Given the description of an element on the screen output the (x, y) to click on. 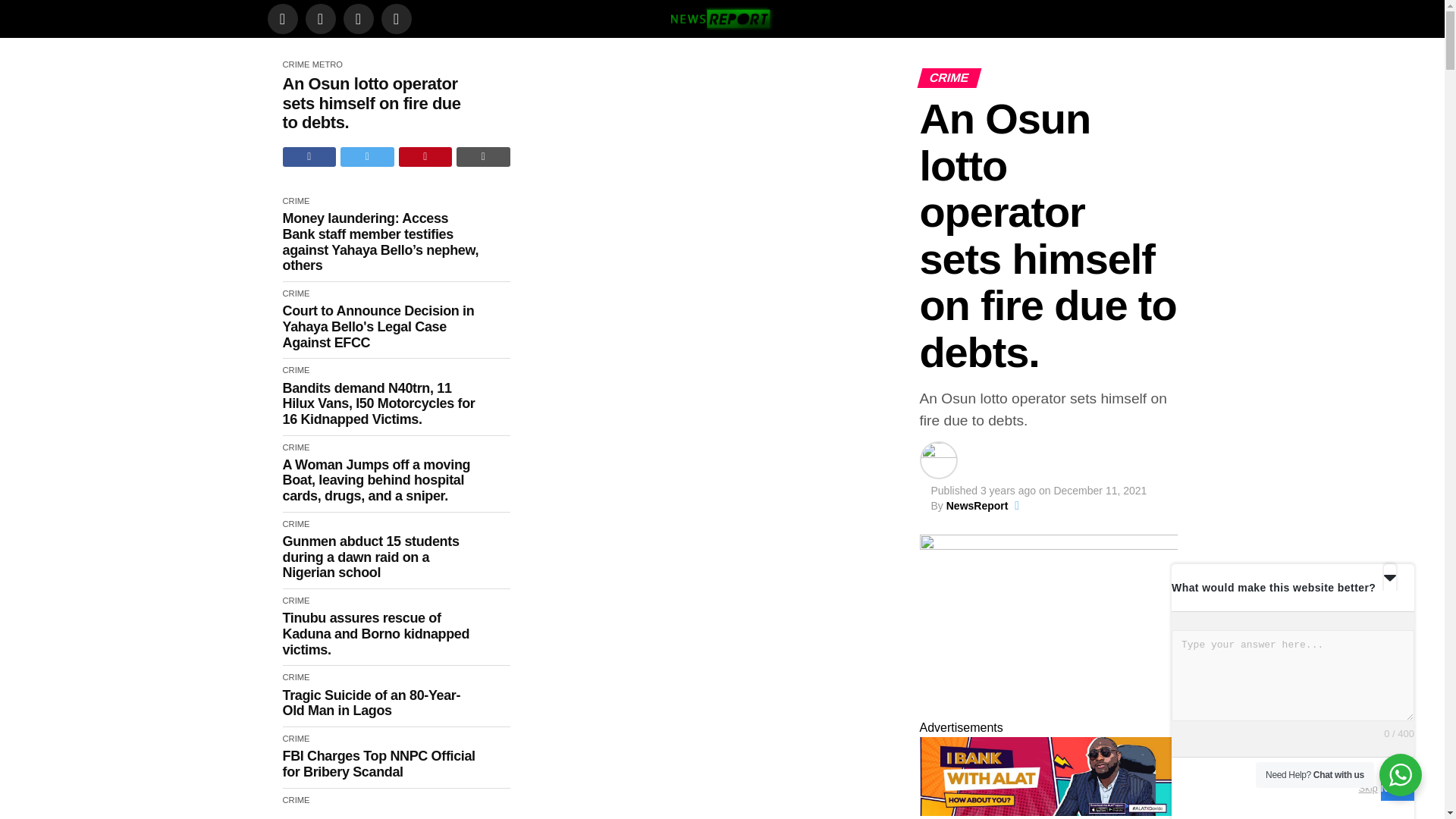
Share on Facebook (309, 157)
Pin This Post (425, 157)
Tweet This Post (367, 157)
